Given the description of an element on the screen output the (x, y) to click on. 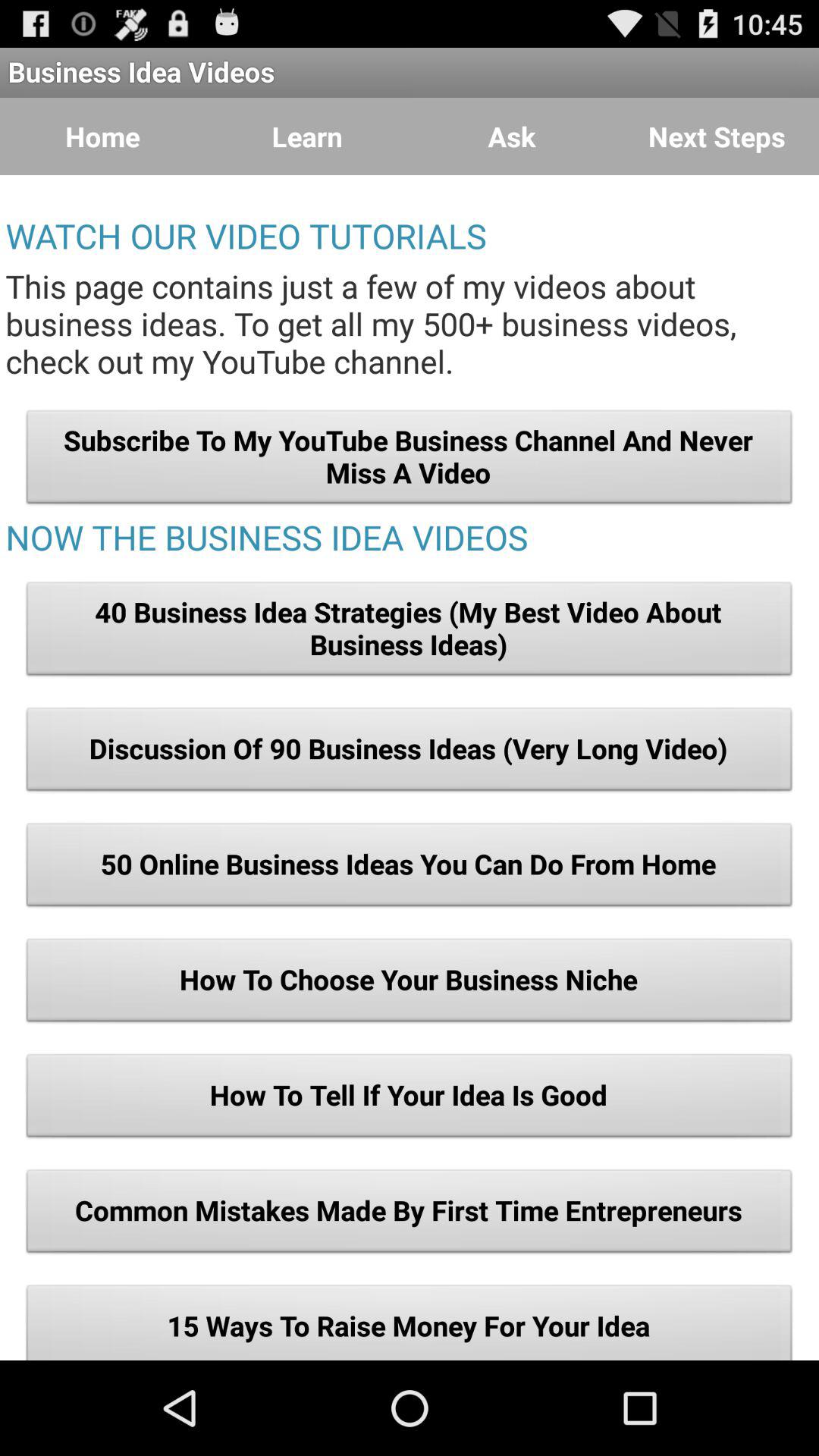
turn on item above the how to choose button (409, 868)
